Given the description of an element on the screen output the (x, y) to click on. 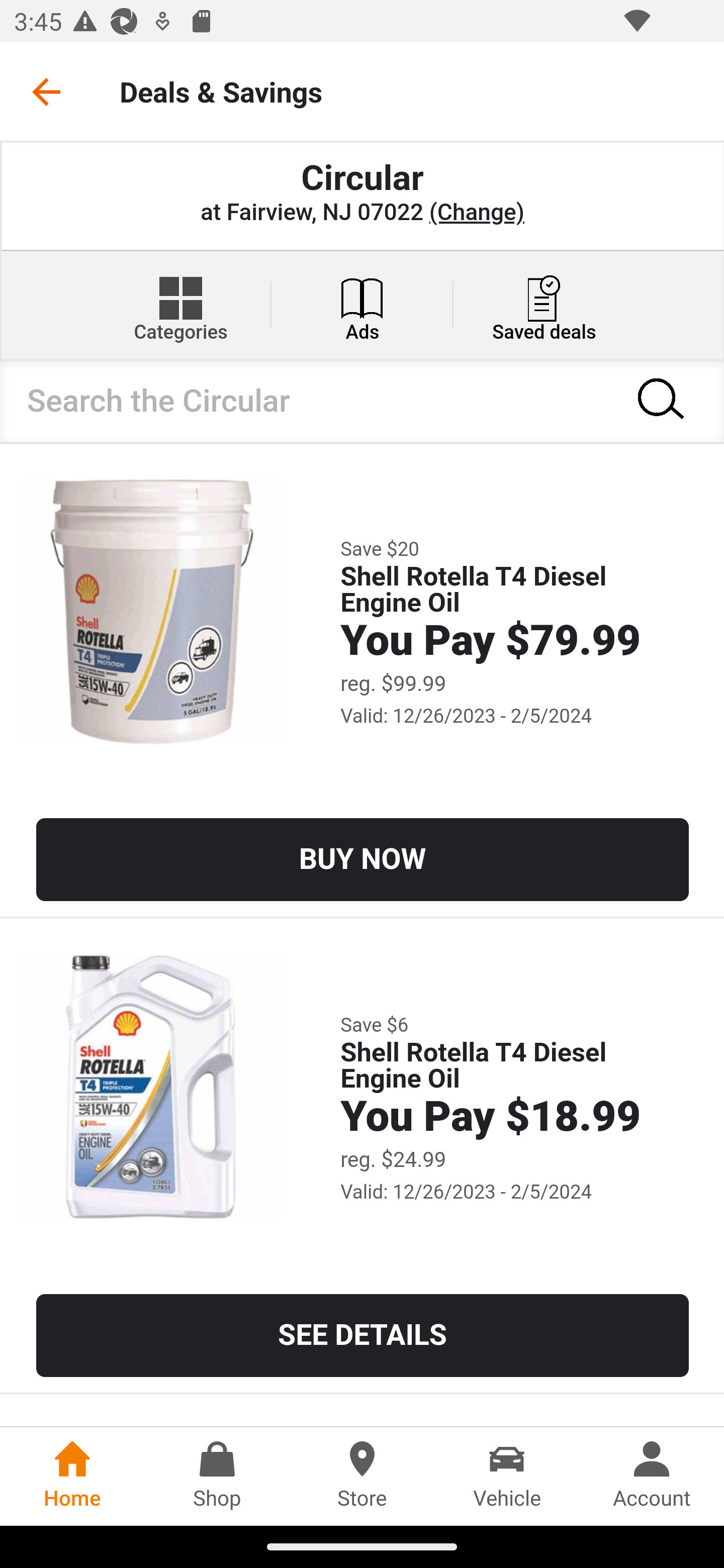
Go back (45, 91)
(Change) (475, 213)
Categories (180, 304)
Ads (361, 304)
Saved deals (544, 304)
BUY NOW (362, 858)
Home (72, 1475)
Shop (216, 1475)
Store (361, 1475)
Vehicle (506, 1475)
Account (651, 1475)
